Given the description of an element on the screen output the (x, y) to click on. 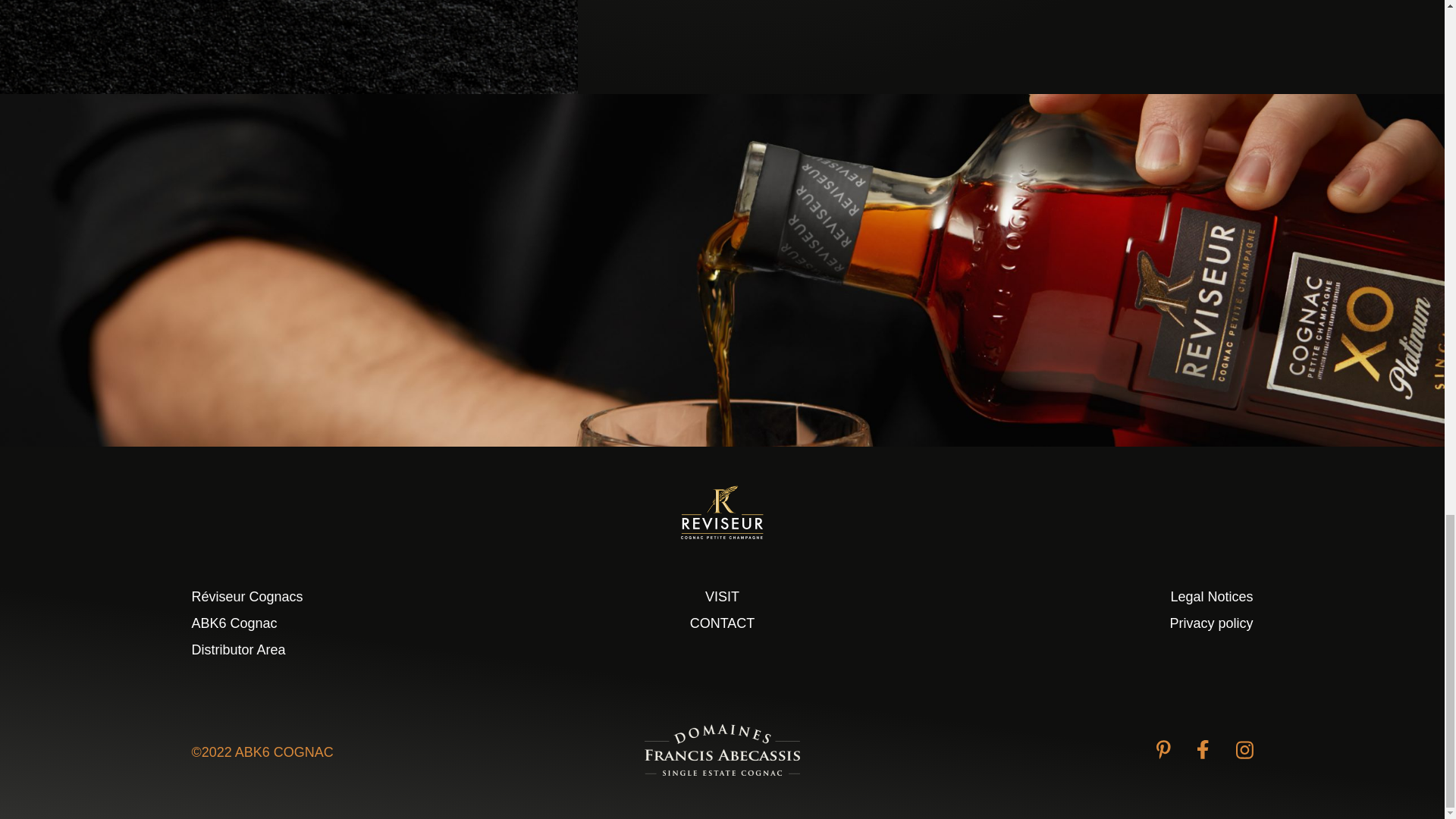
Distributor Area (237, 649)
CONTACT (722, 622)
Legal Notices (1211, 596)
ABK6 Cognac (233, 622)
VISIT (721, 596)
Privacy policy (1210, 622)
